Given the description of an element on the screen output the (x, y) to click on. 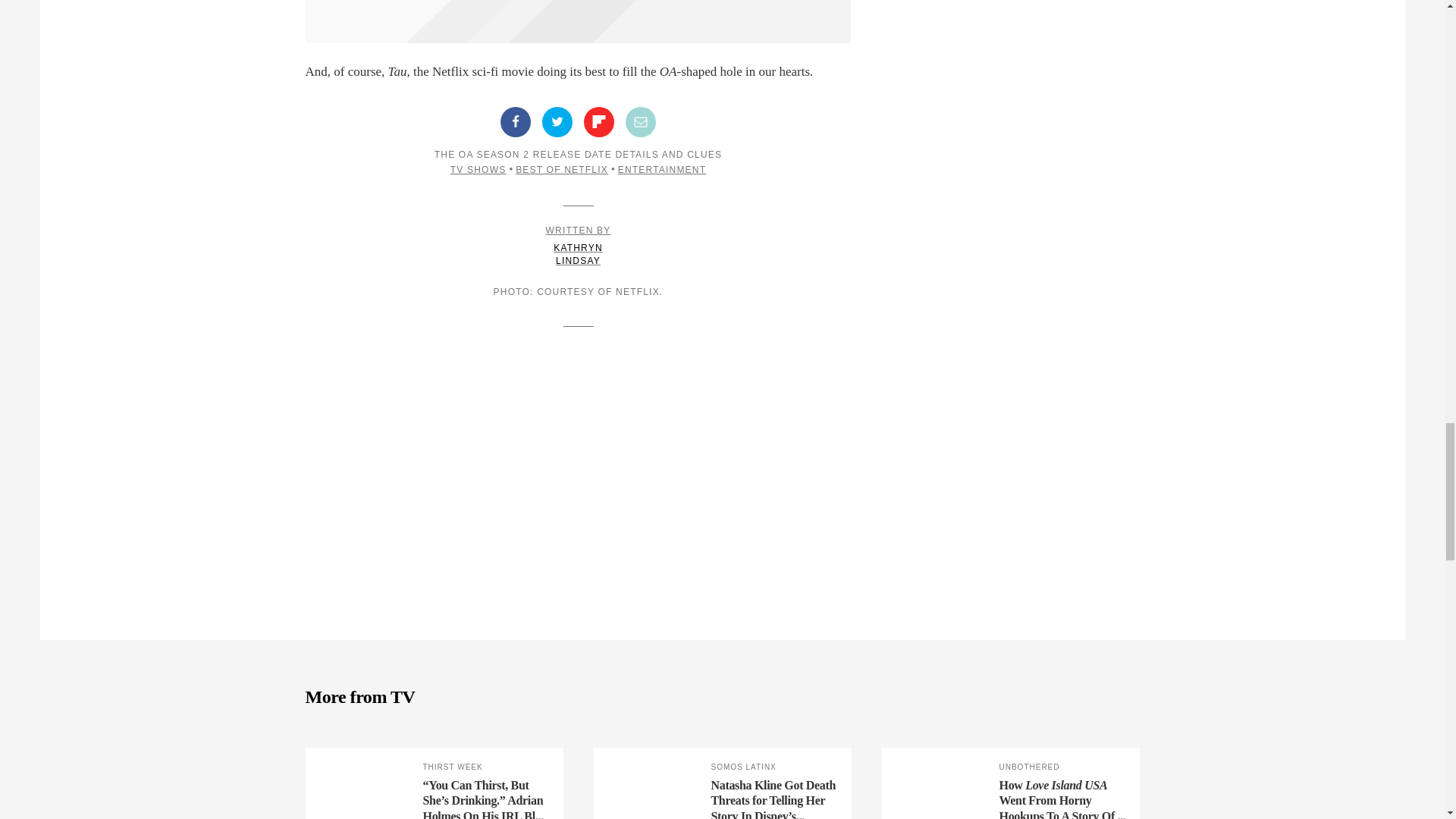
Share by Email (641, 122)
ENTERTAINMENT (661, 169)
Share on Flipboard (598, 122)
Share on Twitter (556, 122)
BEST OF NETFLIX (561, 169)
TV SHOWS (477, 169)
